Given the description of an element on the screen output the (x, y) to click on. 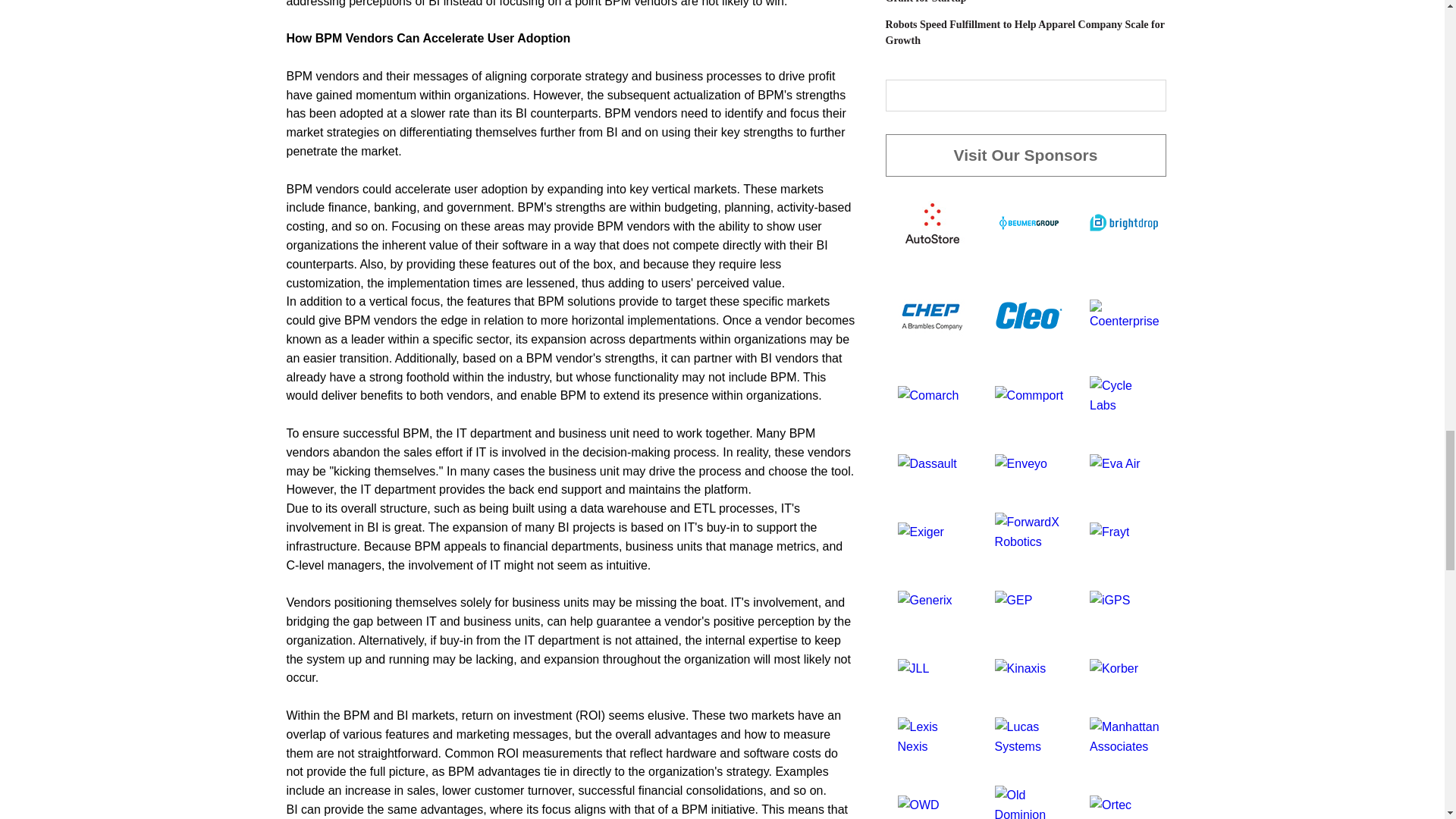
Cycle Labs (1123, 395)
CHEP (932, 314)
Enveyo (1020, 463)
Beumer Group (1028, 222)
Eva Air (1114, 463)
Commport (1029, 395)
Dassault (927, 463)
Cleo (1028, 314)
Brightdrop (1123, 222)
Comarch (928, 395)
AutoStore (932, 222)
Coenterprise (1123, 314)
